Given the description of an element on the screen output the (x, y) to click on. 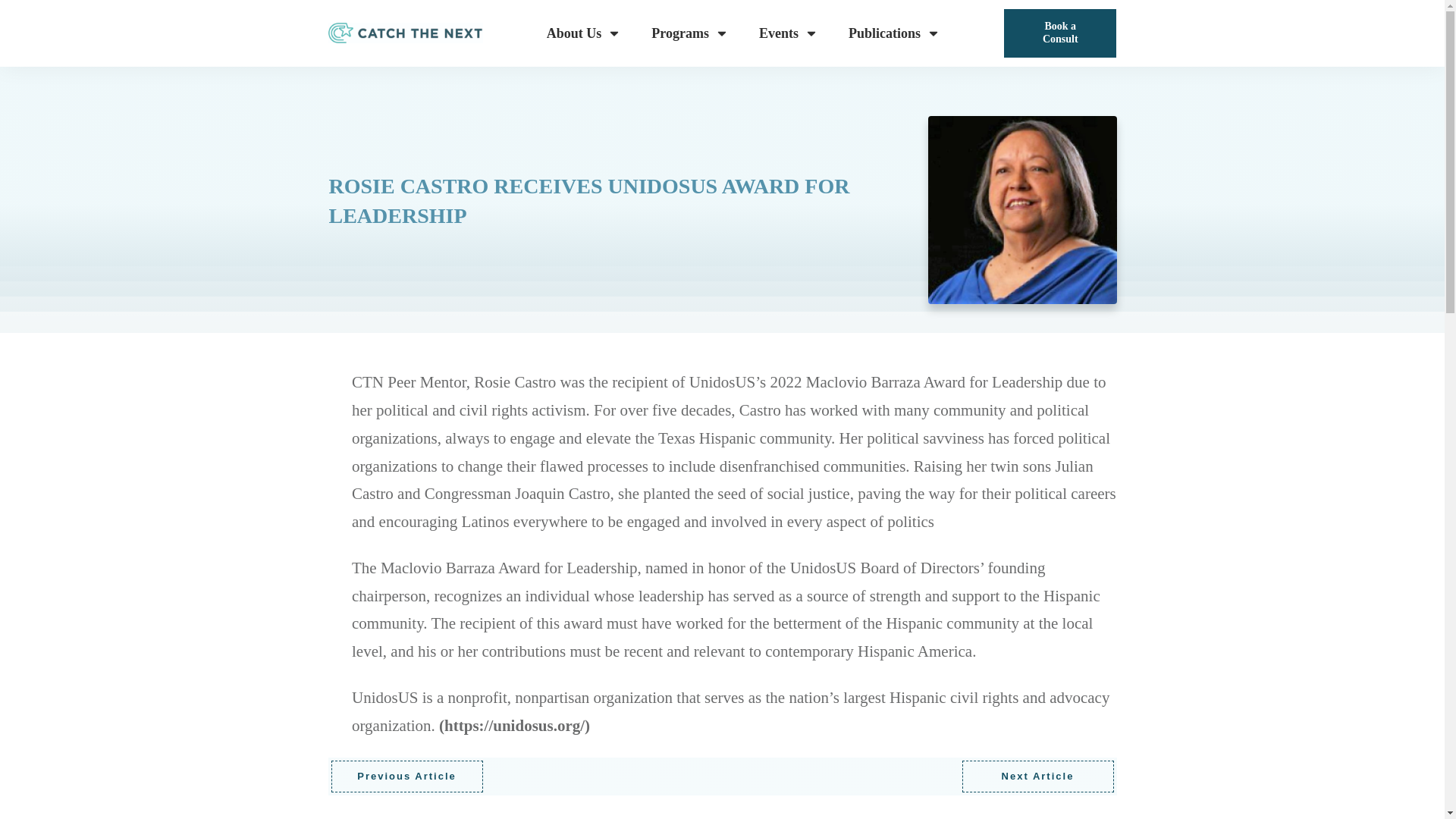
Events (788, 32)
About Us (584, 32)
Publications (894, 32)
ROSIE CASTRO RECEIVES UNIDOSUS AWARD FOR LEADERSHIP (1022, 210)
Programs (689, 32)
